Given the description of an element on the screen output the (x, y) to click on. 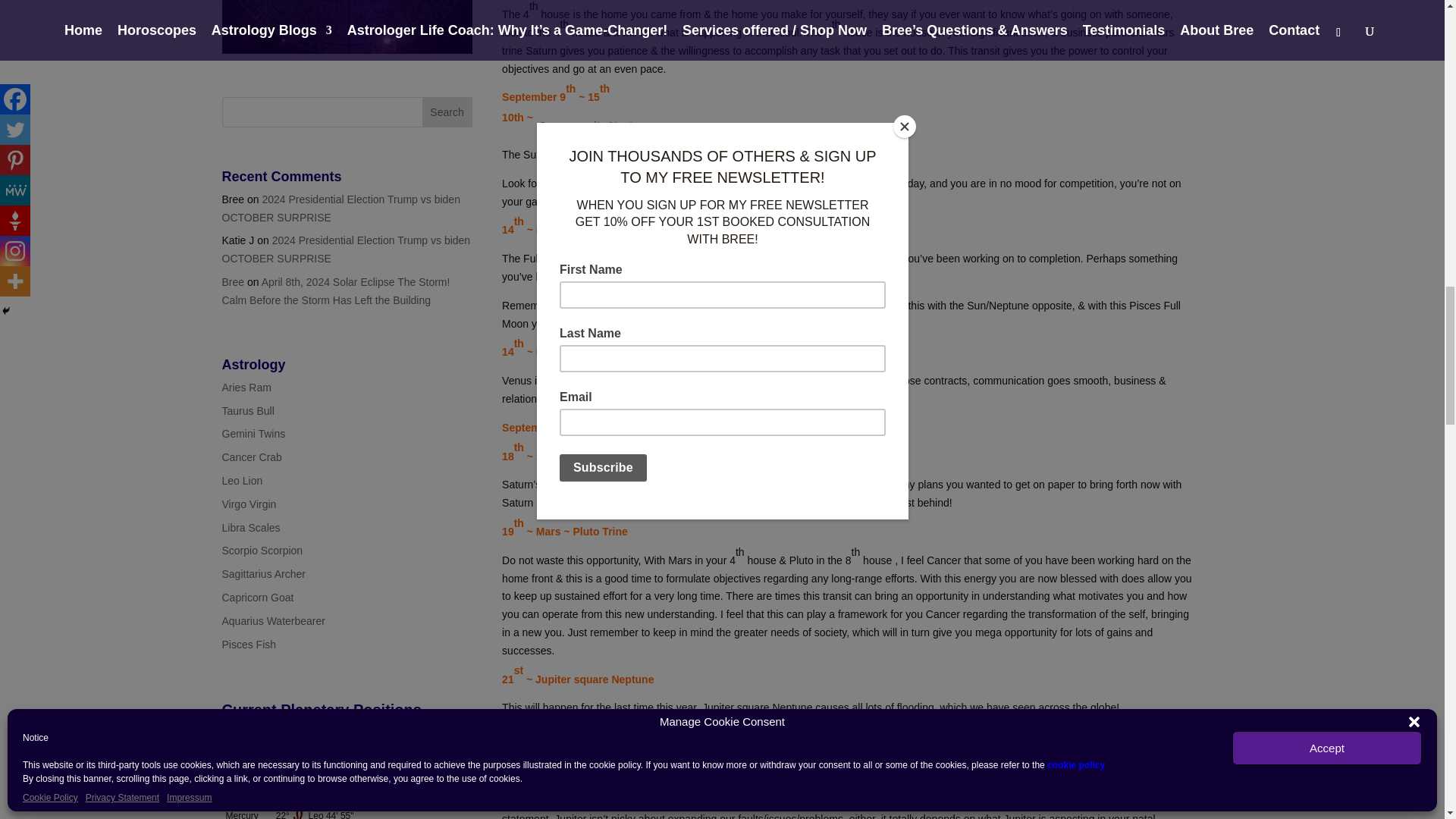
Search (446, 112)
